Given the description of an element on the screen output the (x, y) to click on. 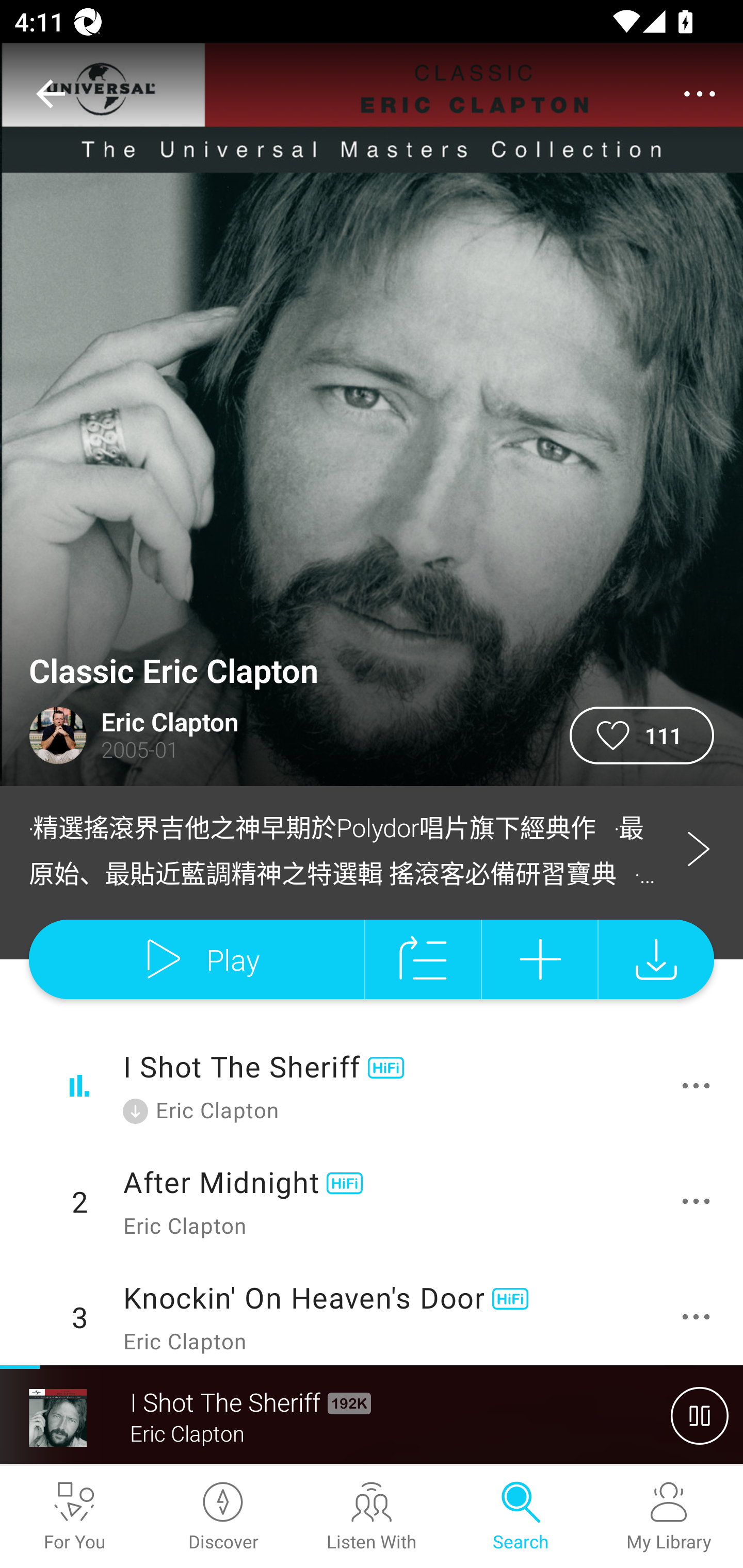
overflow (699, 93)
view_image Eric Clapton label_curator 2005-01 (284, 736)
111 button_subscription (641, 736)
Play (196, 959)
add to queue (422, 959)
加入至歌單 (539, 959)
下載歌曲至手機 (656, 959)
I Shot The Sheriff 已下載 Eric Clapton 更多操作選項 (371, 1085)
更多操作選項 (699, 1085)
2 After Midnight Eric Clapton 更多操作選項 (371, 1201)
更多操作選項 (699, 1201)
3 Knockin' On Heaven's Door Eric Clapton 更多操作選項 (371, 1312)
更多操作選項 (699, 1317)
暫停播放 (699, 1415)
For You (74, 1517)
Discover (222, 1517)
Listen With (371, 1517)
Search (519, 1517)
My Library (668, 1517)
